Given the description of an element on the screen output the (x, y) to click on. 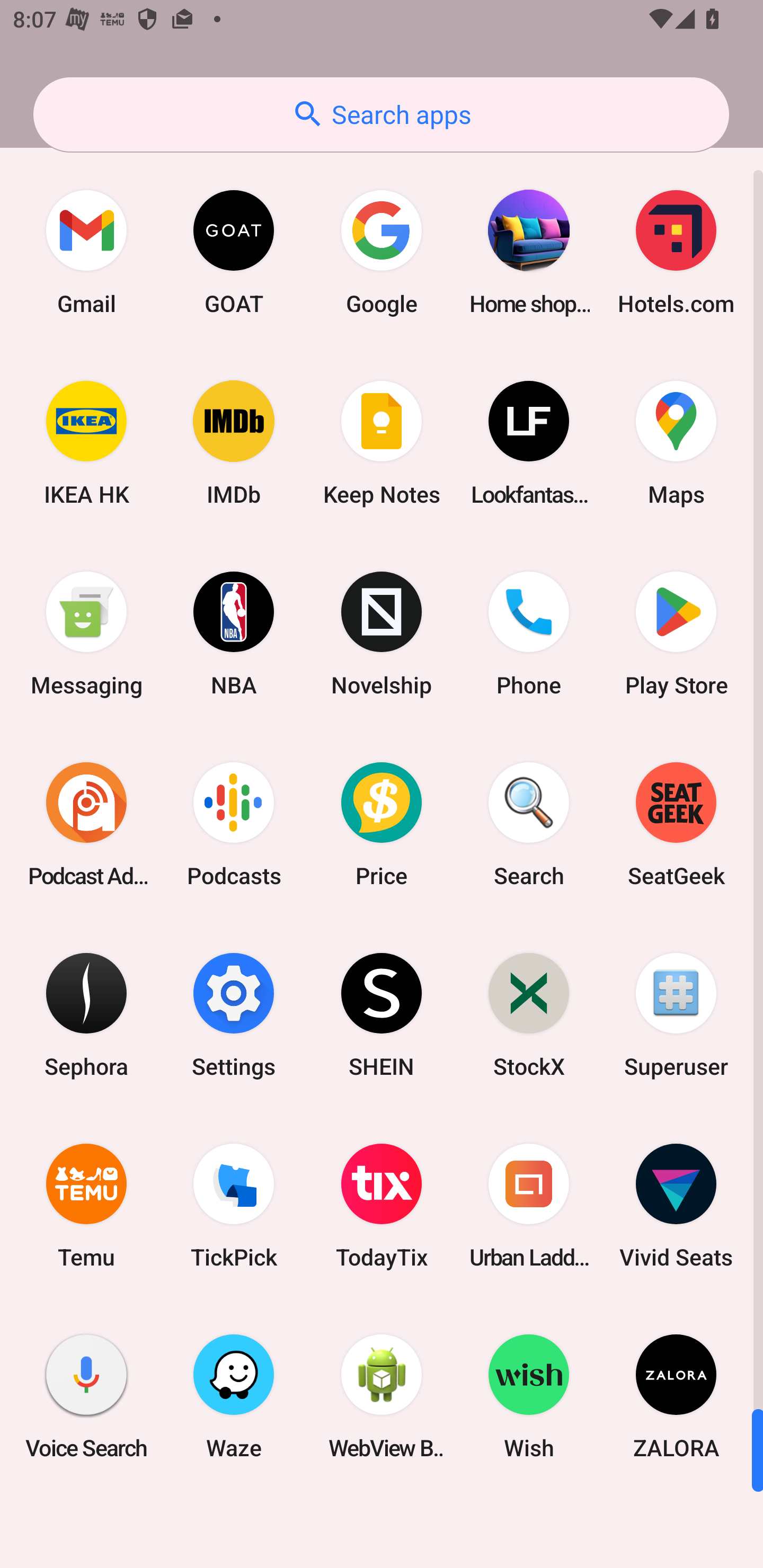
  Search apps (381, 114)
Gmail (86, 252)
GOAT (233, 252)
Google (381, 252)
Home shopping (528, 252)
Hotels.com (676, 252)
IKEA HK (86, 442)
IMDb (233, 442)
Keep Notes (381, 442)
Lookfantastic (528, 442)
Maps (676, 442)
Messaging (86, 633)
NBA (233, 633)
Novelship (381, 633)
Phone (528, 633)
Play Store (676, 633)
Podcast Addict (86, 823)
Podcasts (233, 823)
Price (381, 823)
Search (528, 823)
SeatGeek (676, 823)
Sephora (86, 1014)
Settings (233, 1014)
SHEIN (381, 1014)
StockX (528, 1014)
Superuser (676, 1014)
Temu (86, 1205)
TickPick (233, 1205)
TodayTix (381, 1205)
Urban Ladder (528, 1205)
Vivid Seats (676, 1205)
Voice Search (86, 1396)
Waze (233, 1396)
WebView Browser Tester (381, 1396)
Wish (528, 1396)
ZALORA (676, 1396)
